Given the description of an element on the screen output the (x, y) to click on. 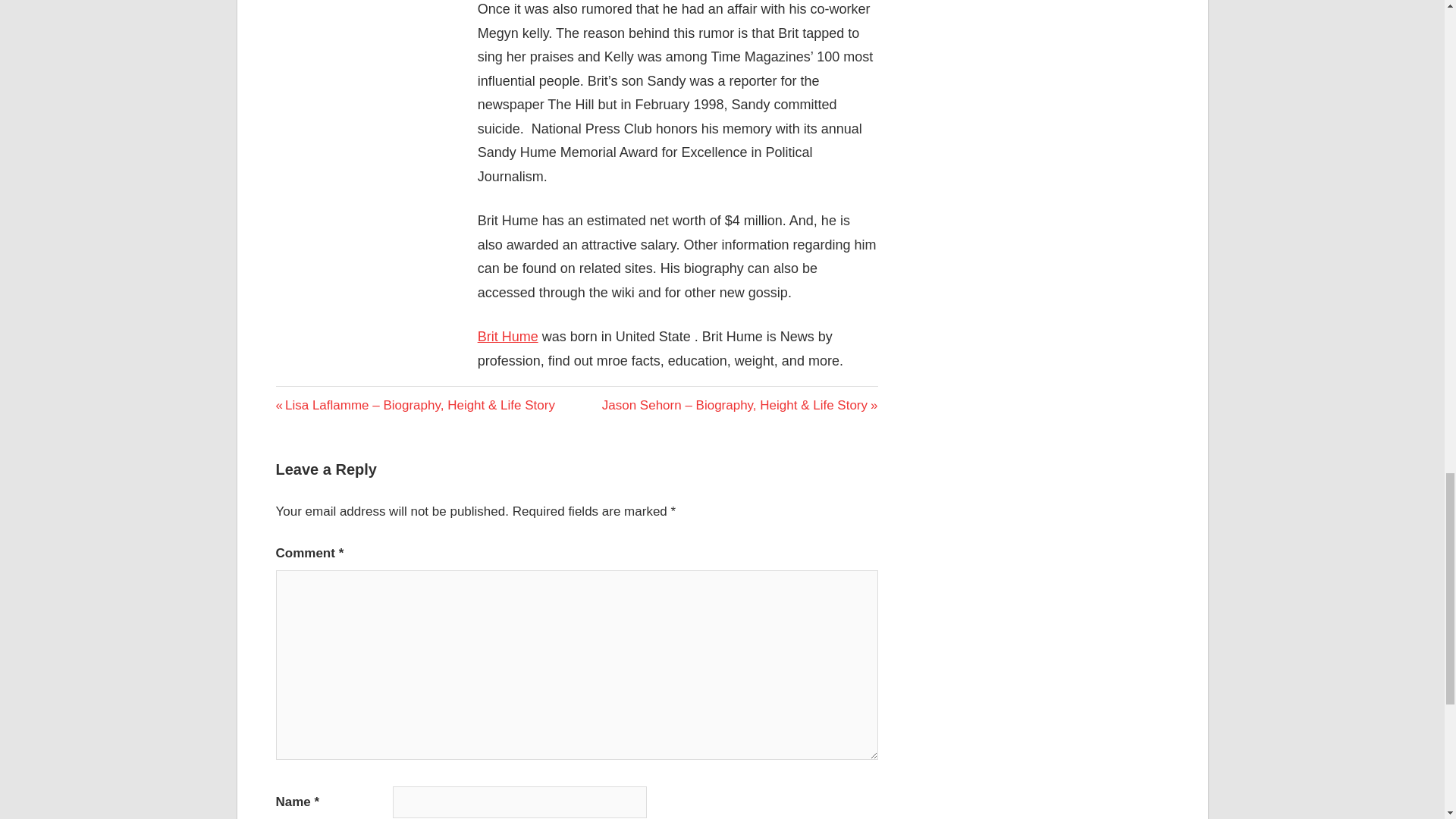
BIO (289, 396)
BIOGRAPHIES (321, 399)
Brit Hume (507, 336)
